Given the description of an element on the screen output the (x, y) to click on. 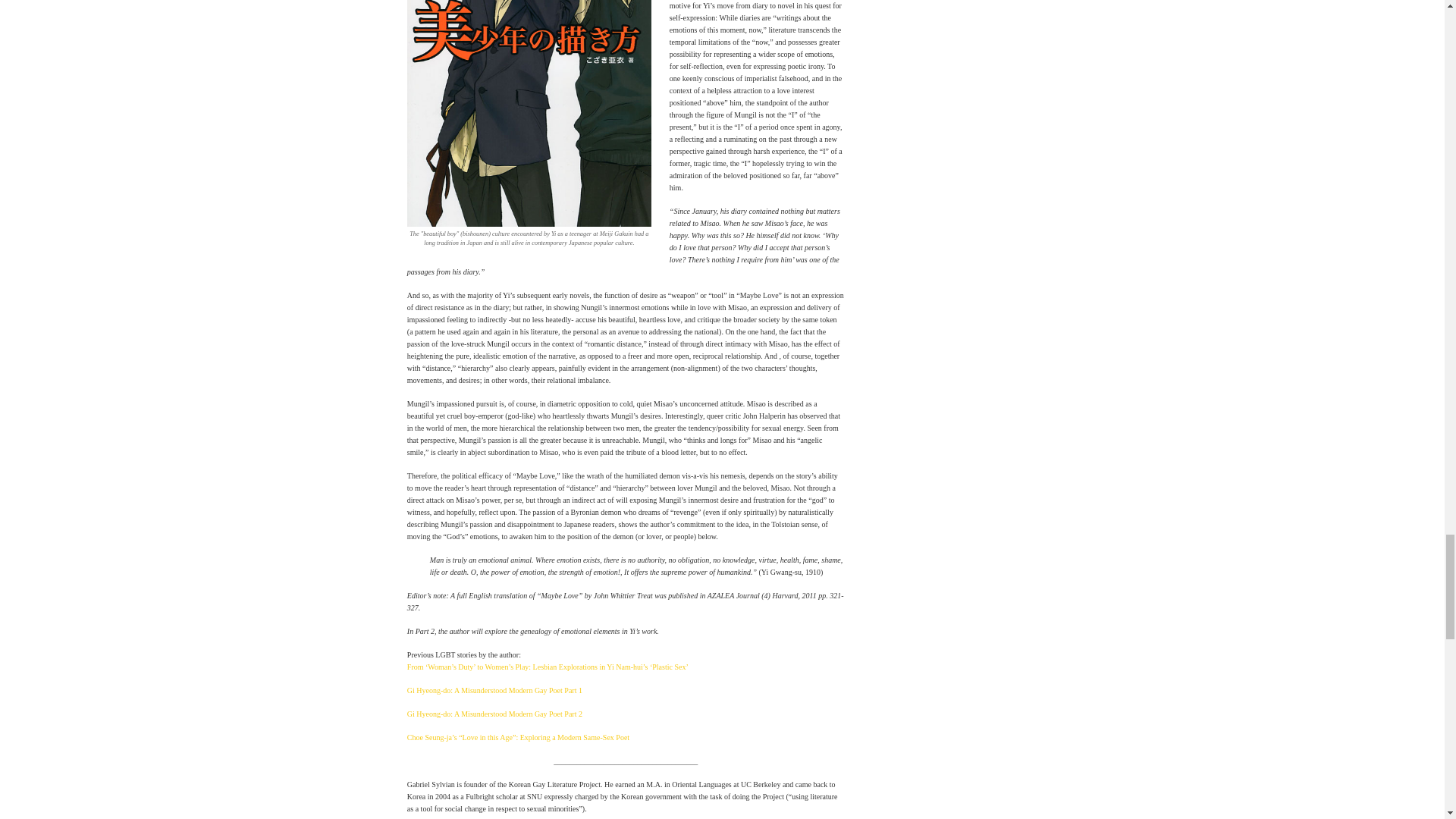
Gi Hyeong-do: A Misunderstood Modern Gay Poet Part 2 (494, 714)
g (528, 113)
Gi Hyeong-do: A Misunderstood Modern Gay Poet Part 1 (494, 690)
